Given the description of an element on the screen output the (x, y) to click on. 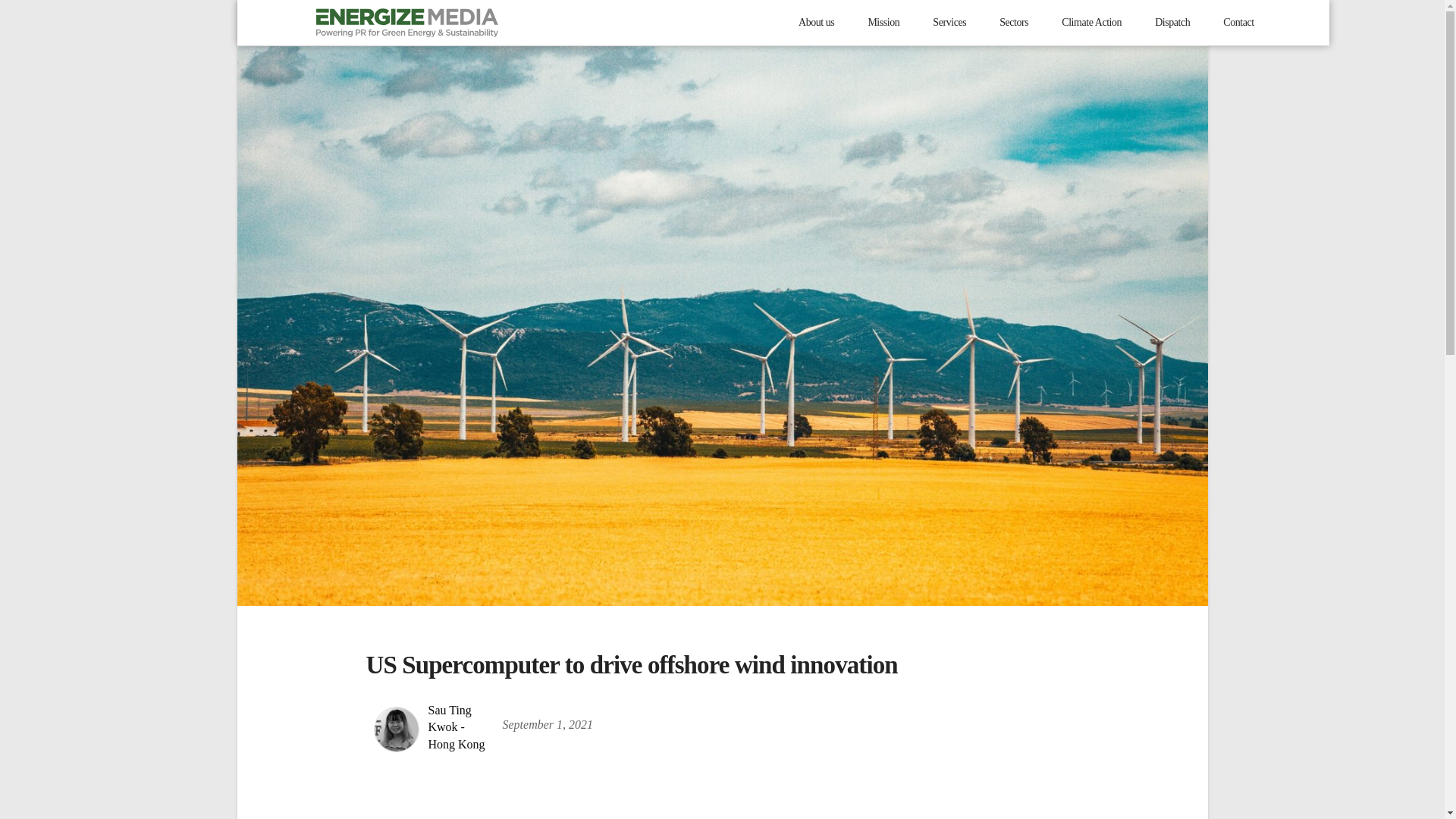
Climate Action (1090, 22)
Services (949, 22)
Contact (1238, 22)
September 1, 2021 (548, 729)
logo (406, 22)
Dispatch (1172, 22)
Sectors (1013, 22)
Mission (883, 22)
About us (815, 22)
